Given the description of an element on the screen output the (x, y) to click on. 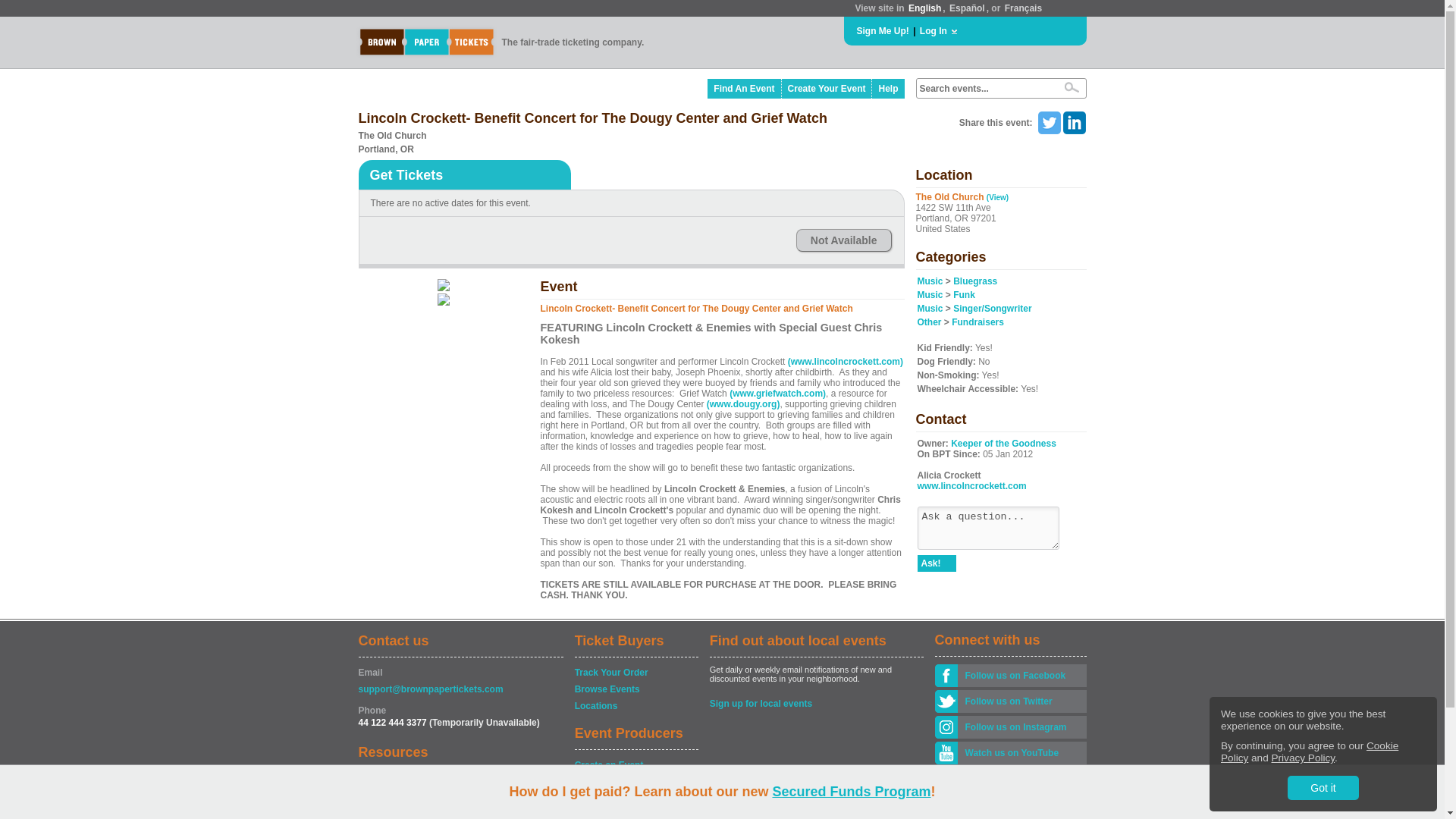
Fundraisers (978, 321)
Developers (460, 776)
Help (888, 88)
Search Events (1070, 86)
Keeper of the Goodness (1003, 443)
Submit to Twitter! (1048, 122)
Not Available (843, 240)
Locations (636, 705)
Got it (1322, 787)
Got it (1322, 787)
